Given the description of an element on the screen output the (x, y) to click on. 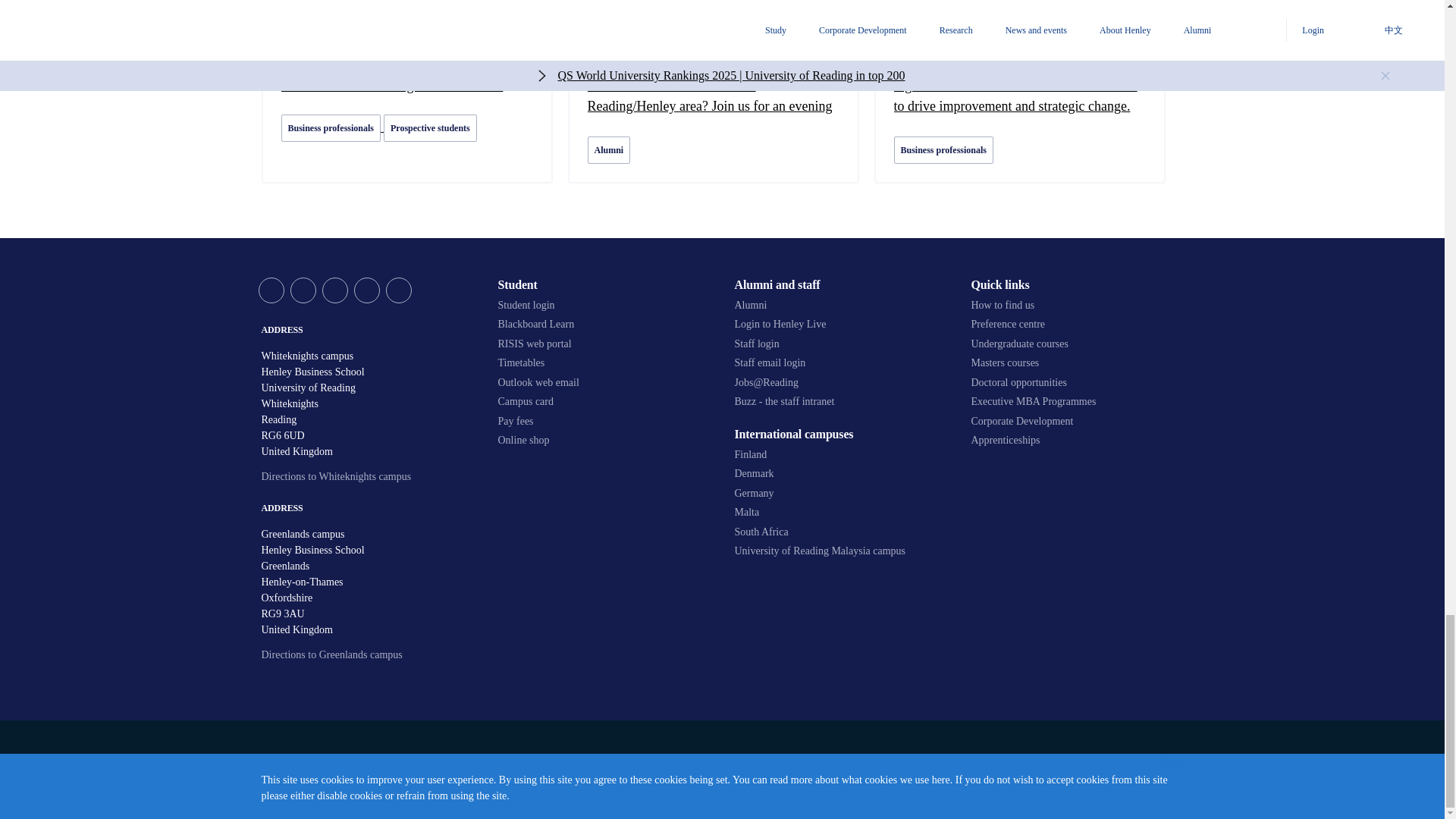
Twitter (270, 290)
Directions to Whiteknights campus (335, 476)
Blackboard Learn (603, 324)
YouTube (334, 290)
Timetables (603, 363)
Linkedin (365, 290)
Pay fees (603, 421)
Directions to Greenlands campus (330, 654)
Online shop (603, 440)
Student login (603, 305)
